Given the description of an element on the screen output the (x, y) to click on. 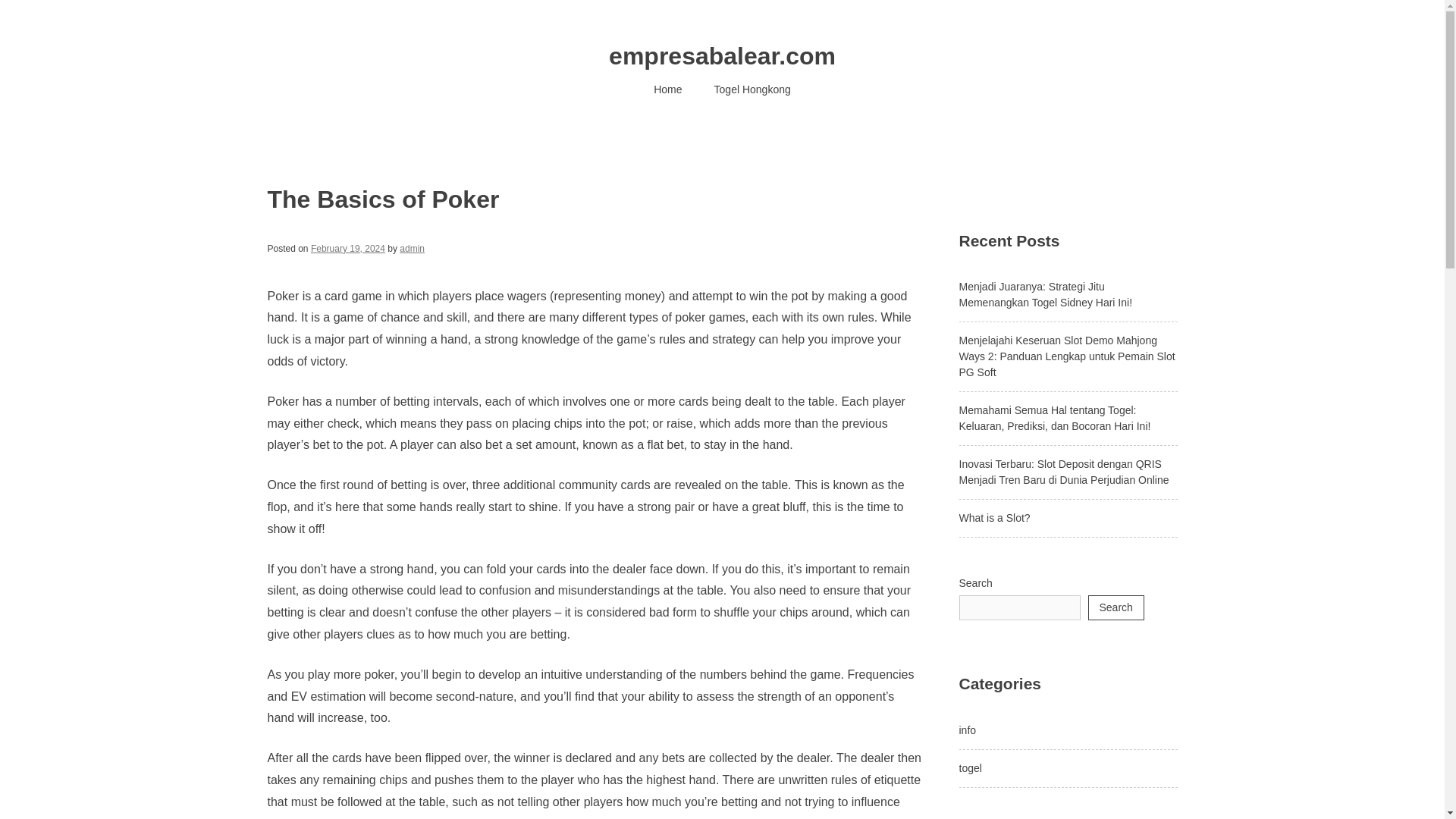
empresabalear.com (721, 55)
info (966, 729)
Search (1114, 607)
February 19, 2024 (348, 248)
What is a Slot? (993, 517)
Togel Hongkong (752, 89)
togel (969, 767)
admin (411, 248)
Home (667, 89)
